Given the description of an element on the screen output the (x, y) to click on. 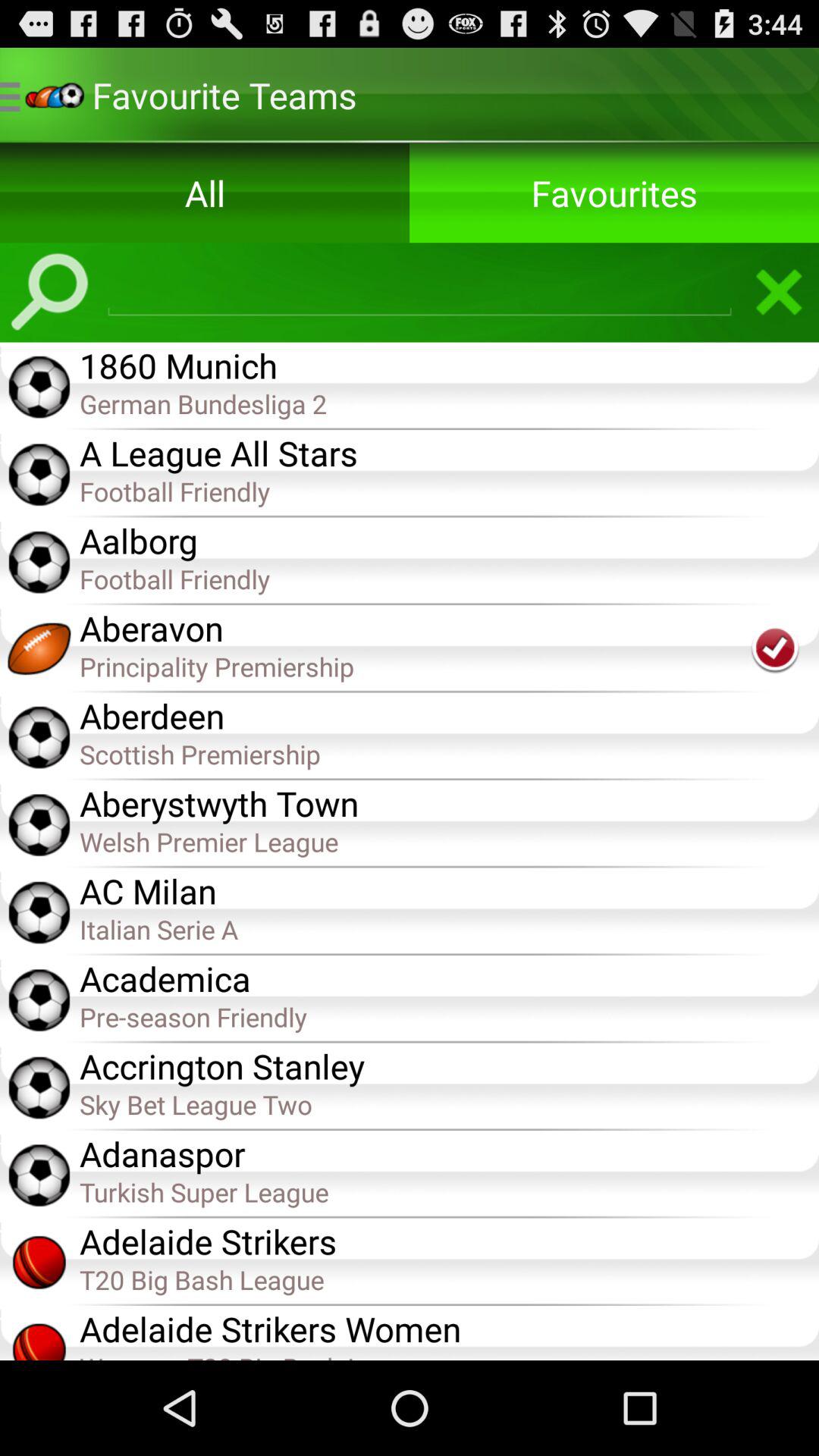
open item below the accrington stanley app (449, 1103)
